Given the description of an element on the screen output the (x, y) to click on. 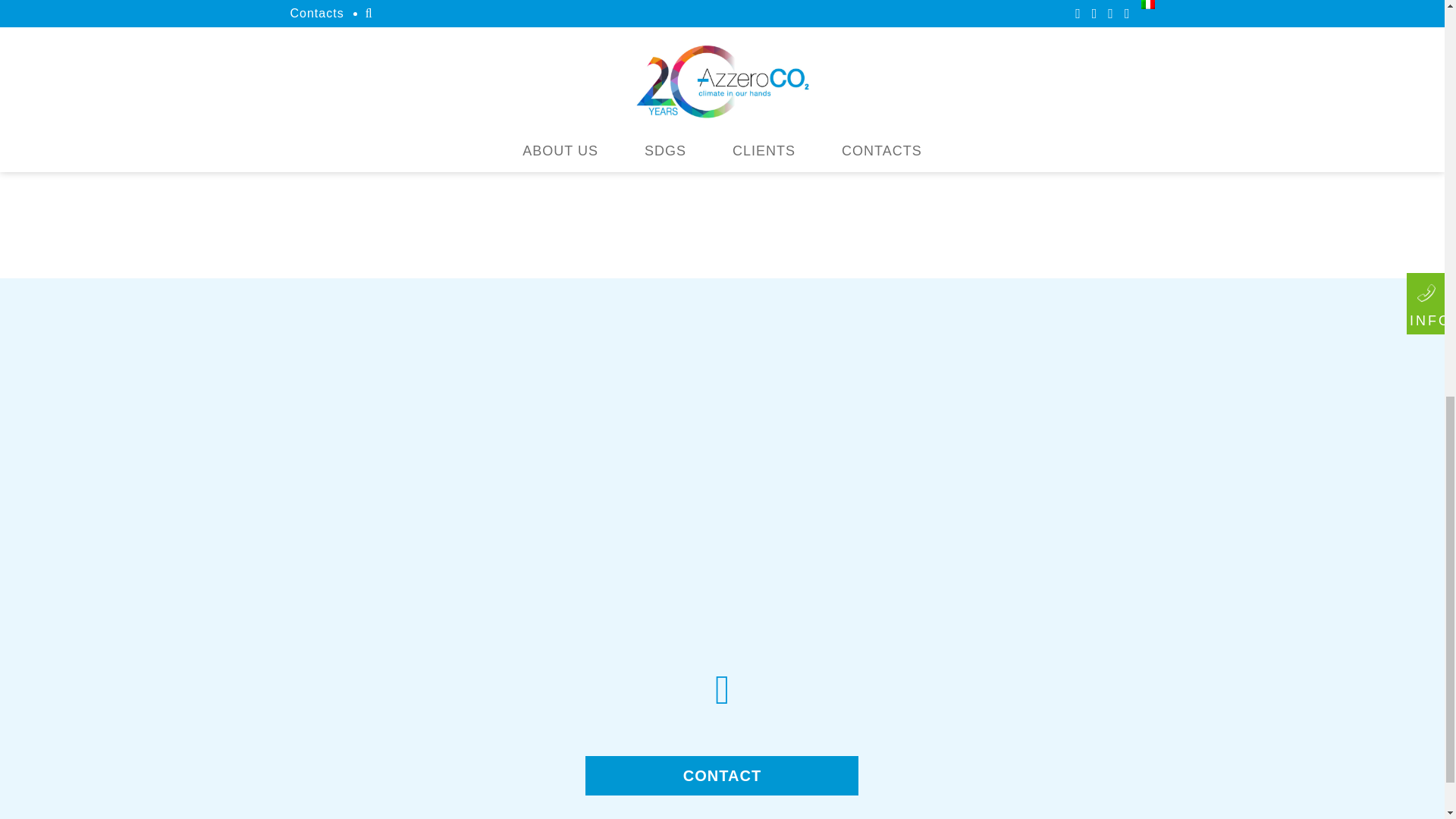
CONTACT (722, 775)
